Given the description of an element on the screen output the (x, y) to click on. 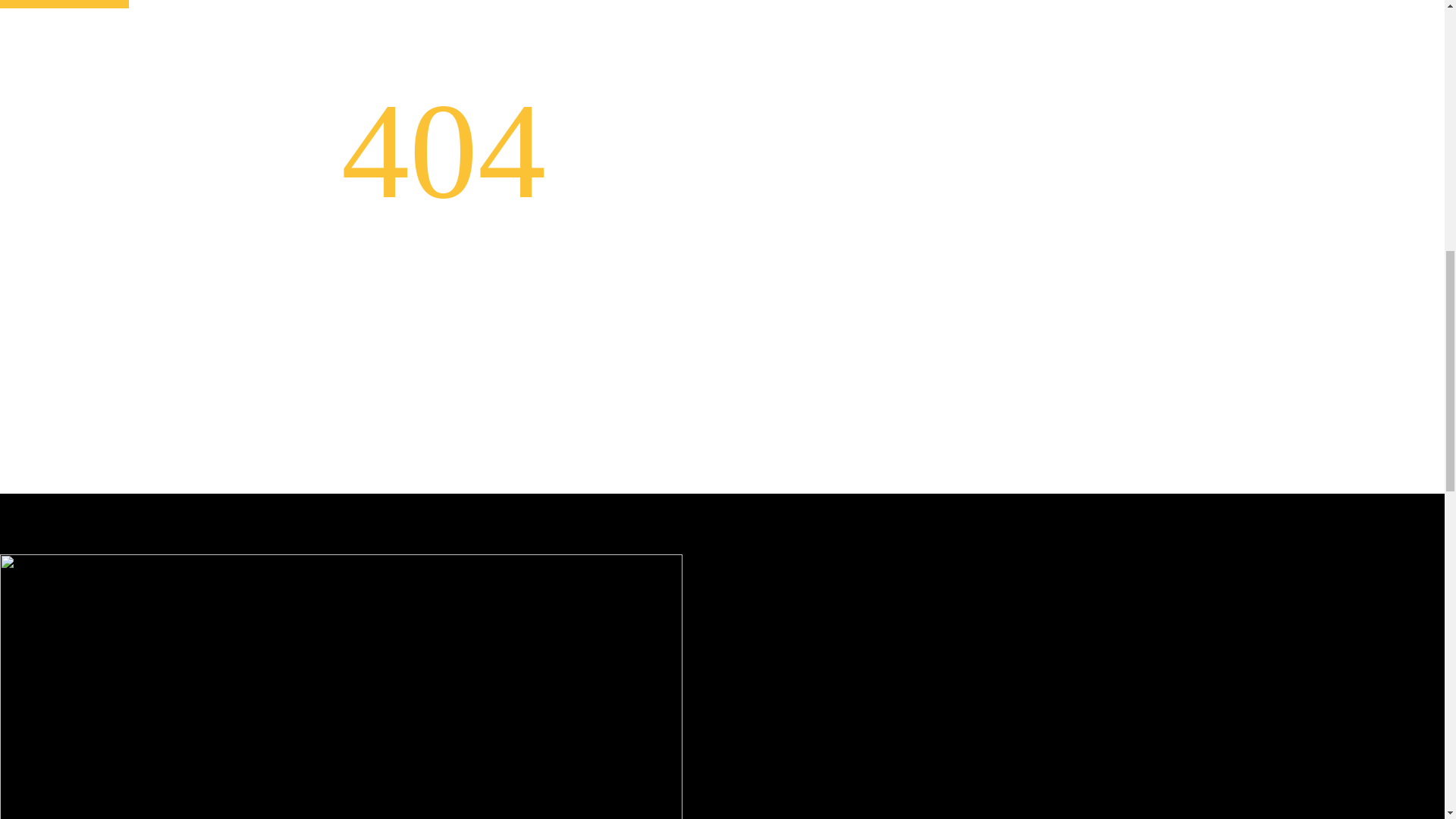
Get A Quote (64, 4)
